Given the description of an element on the screen output the (x, y) to click on. 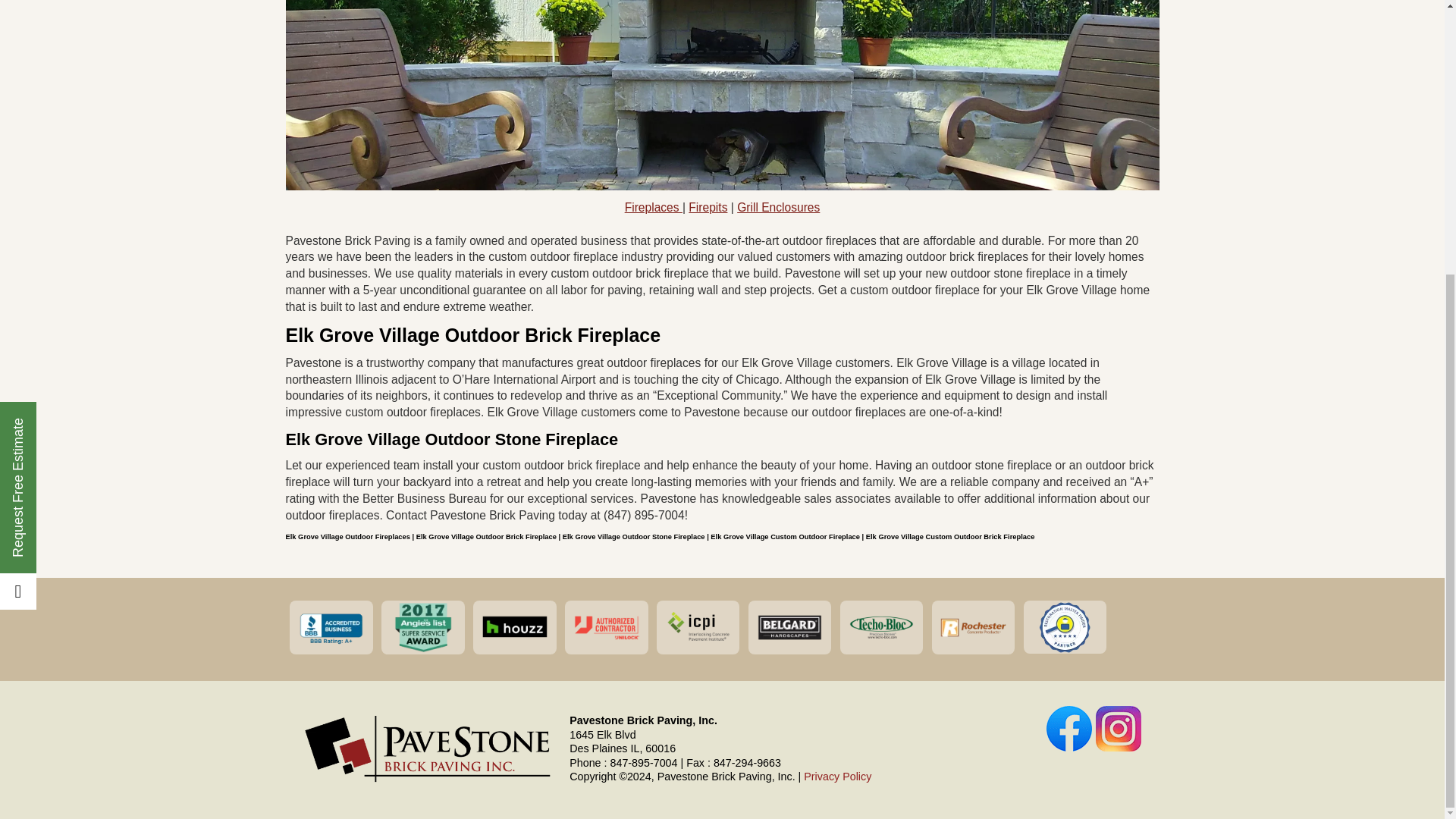
unilock1-min (606, 627)
houzz1-min (514, 627)
belgaurd-min (789, 627)
techobloc-min (881, 627)
angies2-min (422, 627)
bbb-min (331, 627)
icpi-min (697, 627)
Rochester1-min (973, 627)
